Given the description of an element on the screen output the (x, y) to click on. 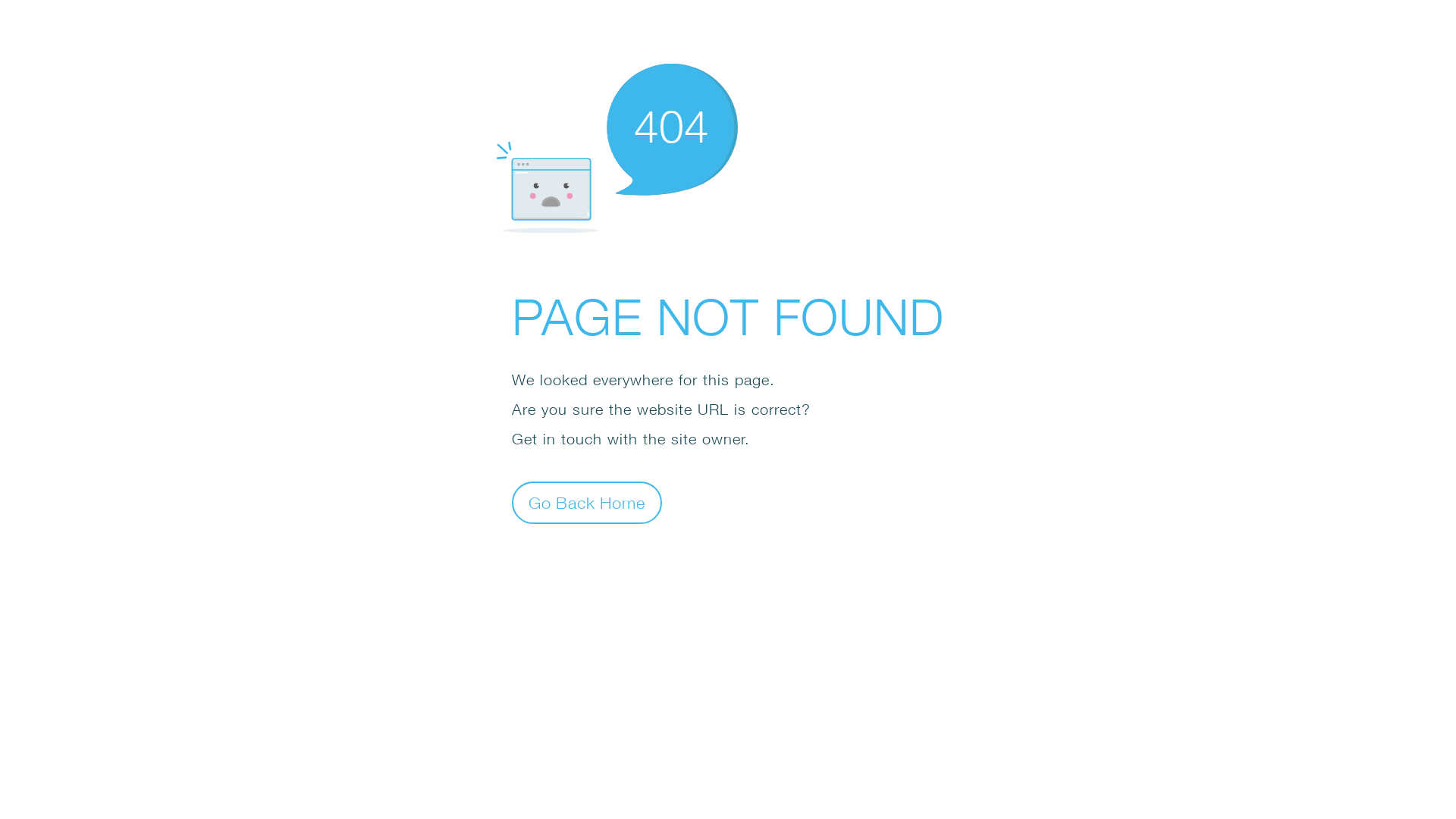
Go Back Home Element type: text (586, 502)
